Given the description of an element on the screen output the (x, y) to click on. 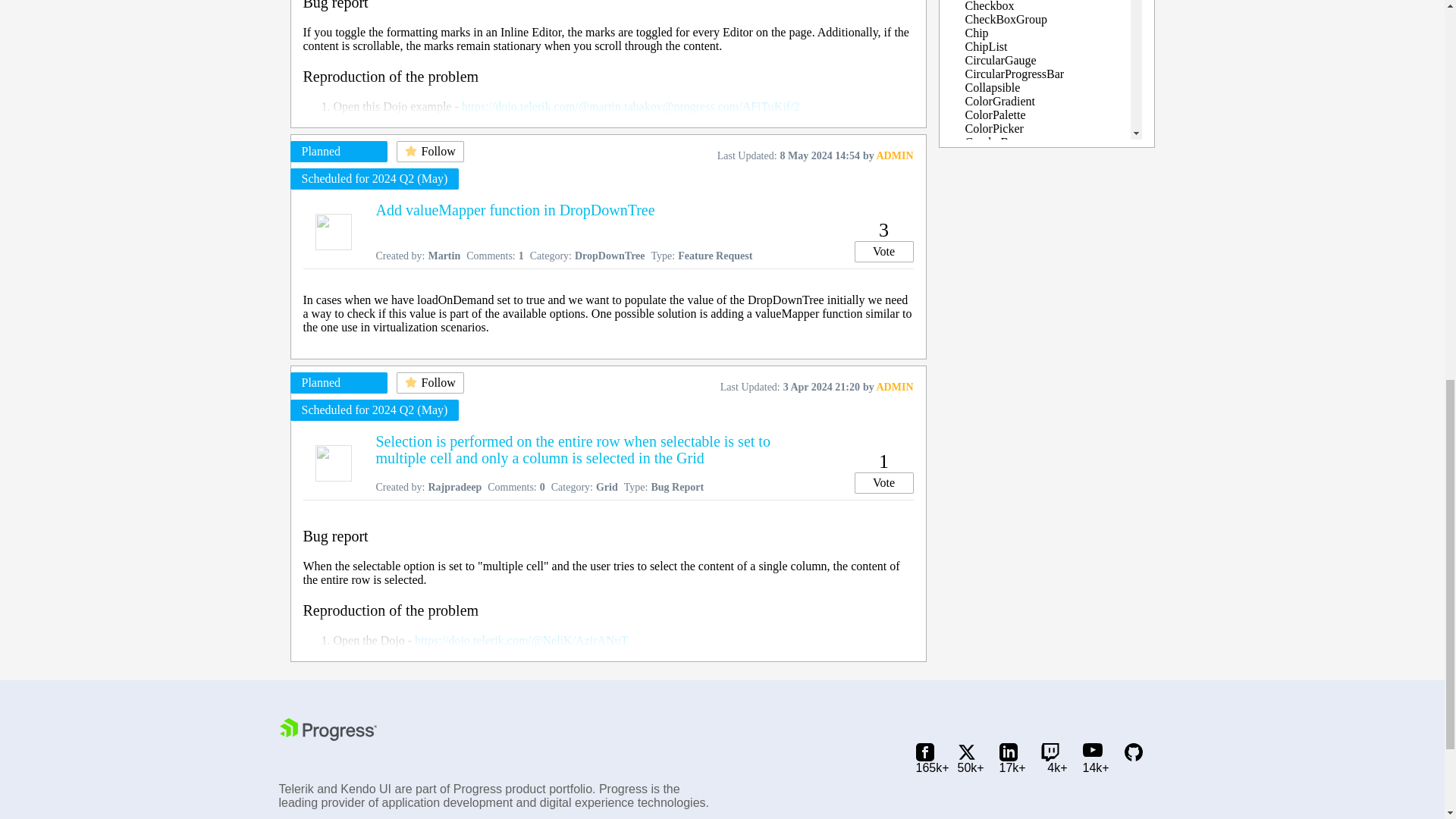
Follow (429, 382)
Vote (882, 482)
Vote (882, 251)
Add valueMapper function in DropDownTree (515, 209)
Follow (429, 151)
